Given the description of an element on the screen output the (x, y) to click on. 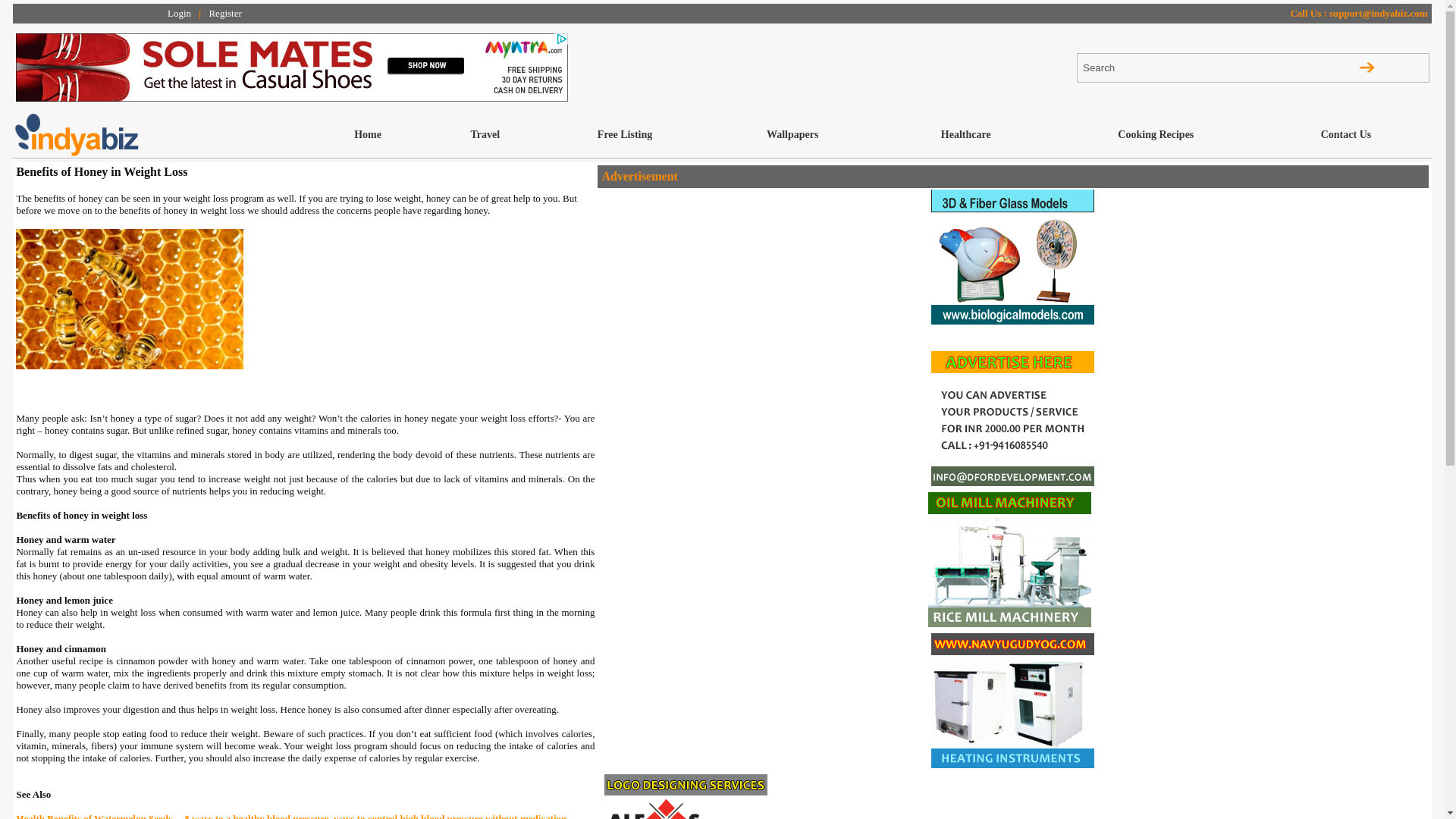
Health Benefits of Watermelon Seeds (93, 816)
Home (367, 134)
Healthcare (965, 134)
Register (224, 13)
Contact Us (1345, 134)
Login (178, 13)
Cooking Recipes (1155, 134)
Search (1154, 67)
Wallpapers (792, 134)
